Given the description of an element on the screen output the (x, y) to click on. 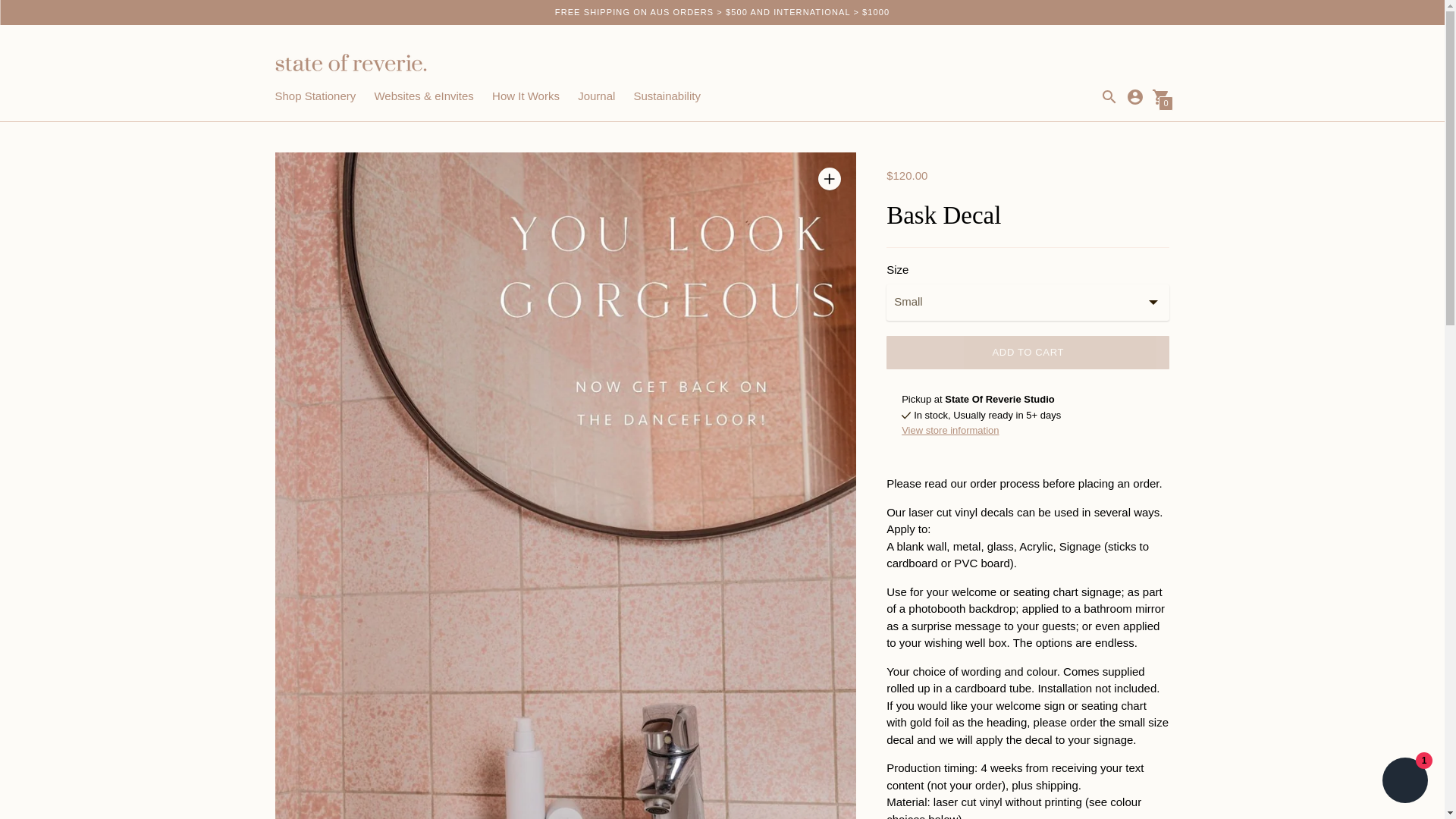
Shopify online store chat (1404, 781)
How It Works (525, 95)
Shop Stationery (315, 95)
